Given the description of an element on the screen output the (x, y) to click on. 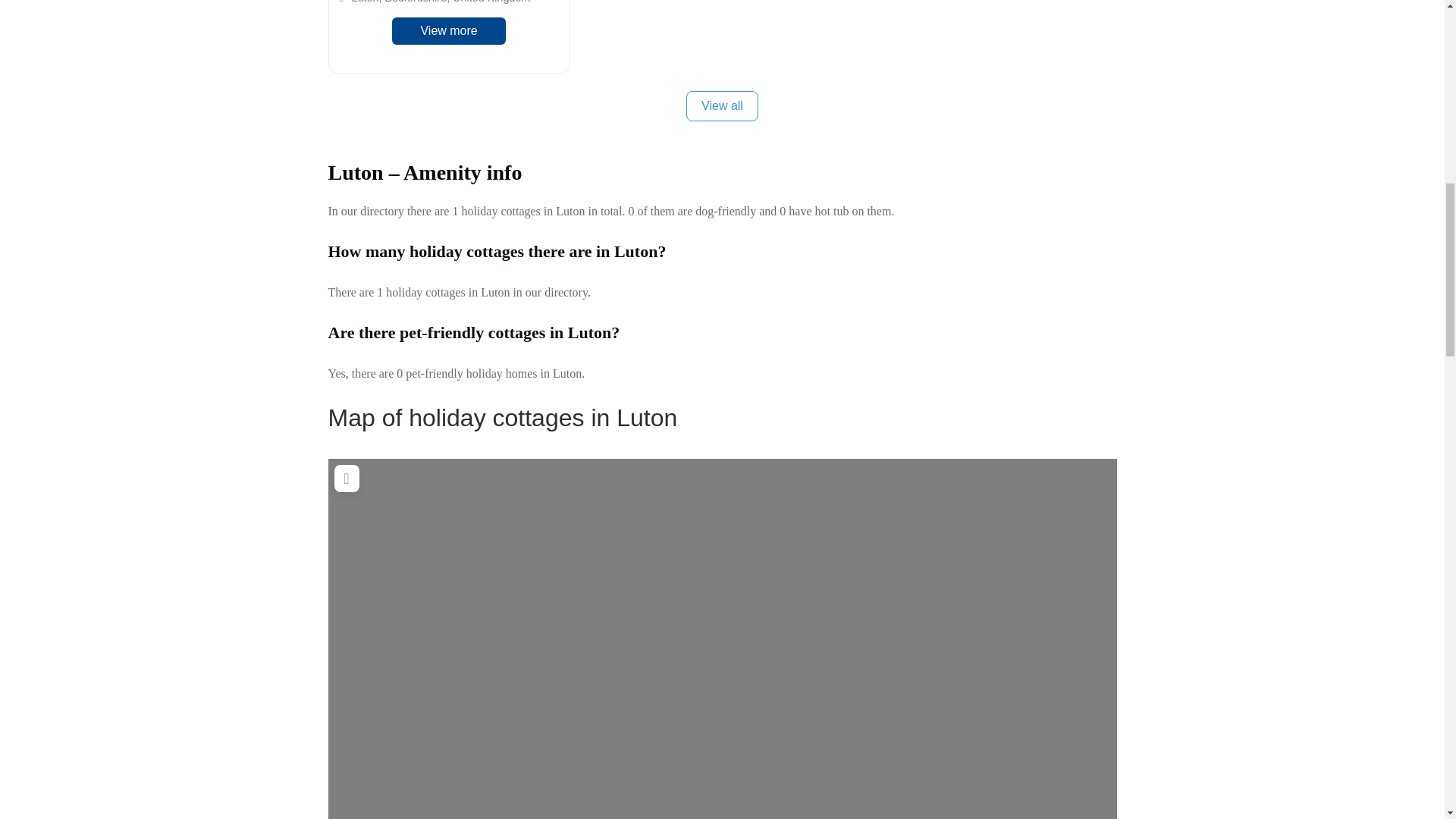
View more (448, 31)
View all (721, 105)
